Given the description of an element on the screen output the (x, y) to click on. 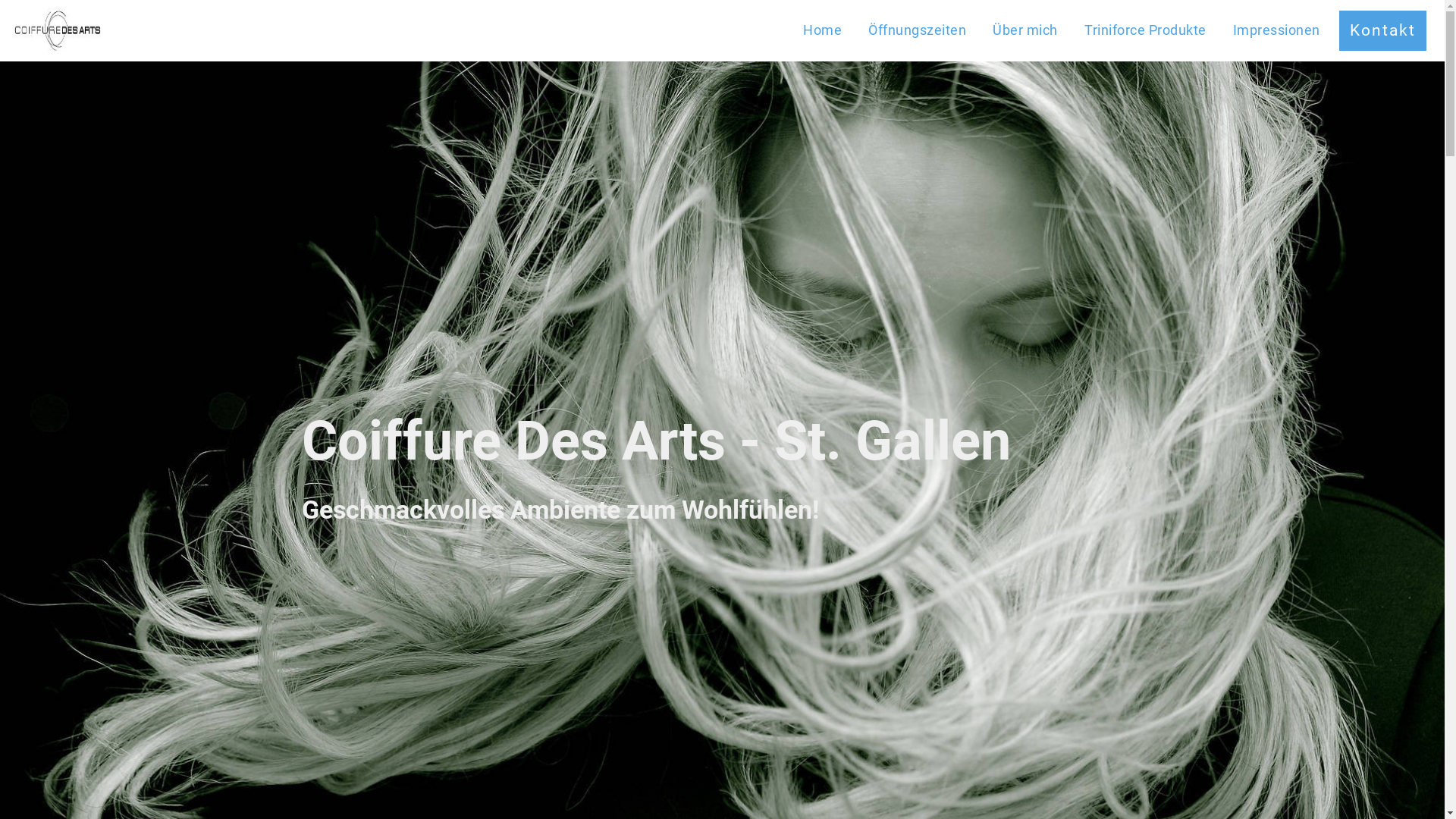
Coiffure Des Arts St. Gallen Element type: hover (57, 30)
Kontakt Element type: text (1382, 30)
Triniforce Produkte Element type: text (1145, 30)
Impressionen Element type: text (1276, 30)
Home Element type: text (822, 30)
